Given the description of an element on the screen output the (x, y) to click on. 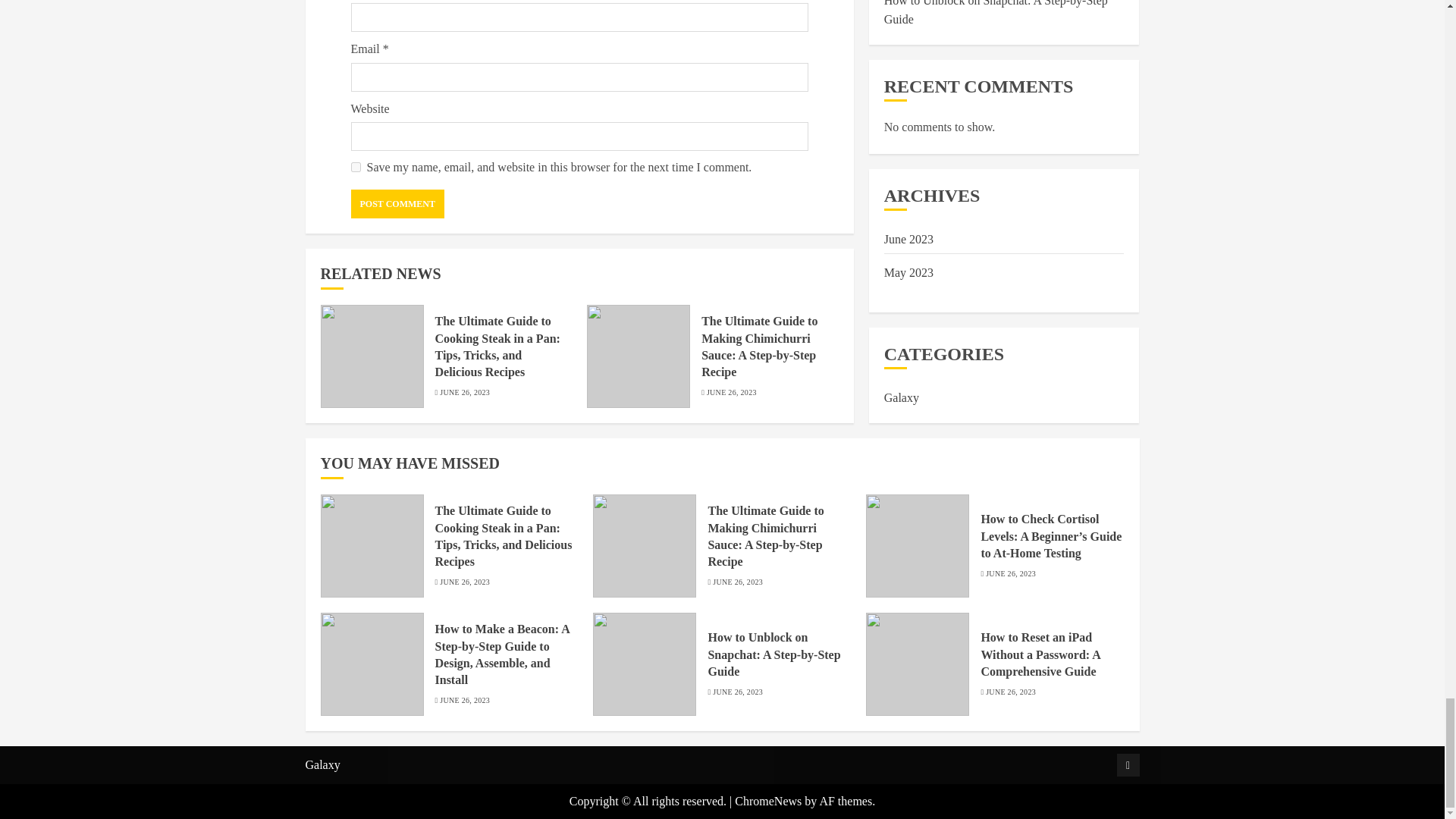
yes (354, 166)
JUNE 26, 2023 (731, 392)
Post Comment (397, 203)
JUNE 26, 2023 (464, 392)
Post Comment (397, 203)
